Given the description of an element on the screen output the (x, y) to click on. 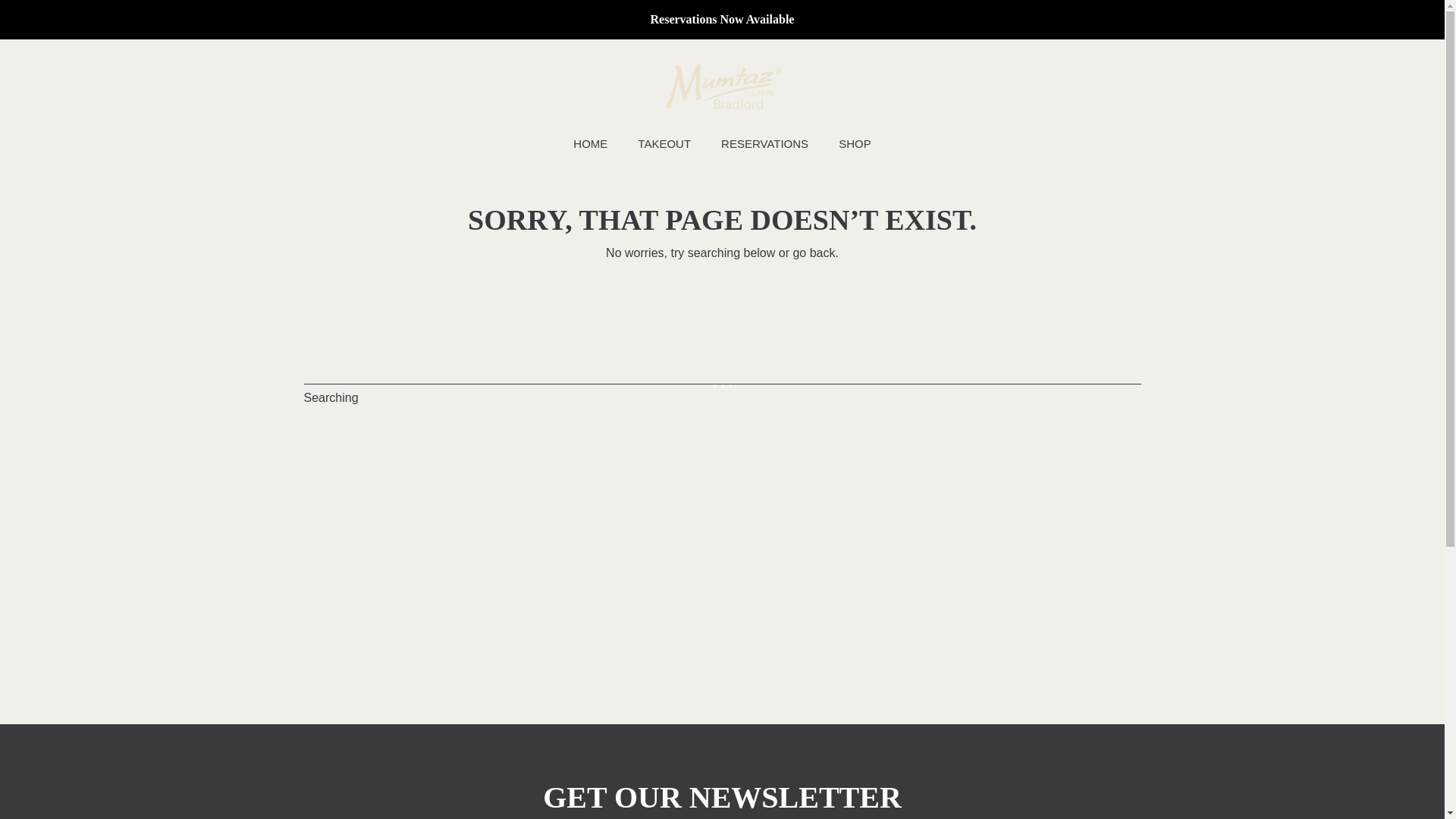
HOME (590, 143)
SKIP TO CONTENT (96, 21)
RESERVATIONS (765, 143)
TAKEOUT (664, 143)
SHOP (855, 143)
